Given the description of an element on the screen output the (x, y) to click on. 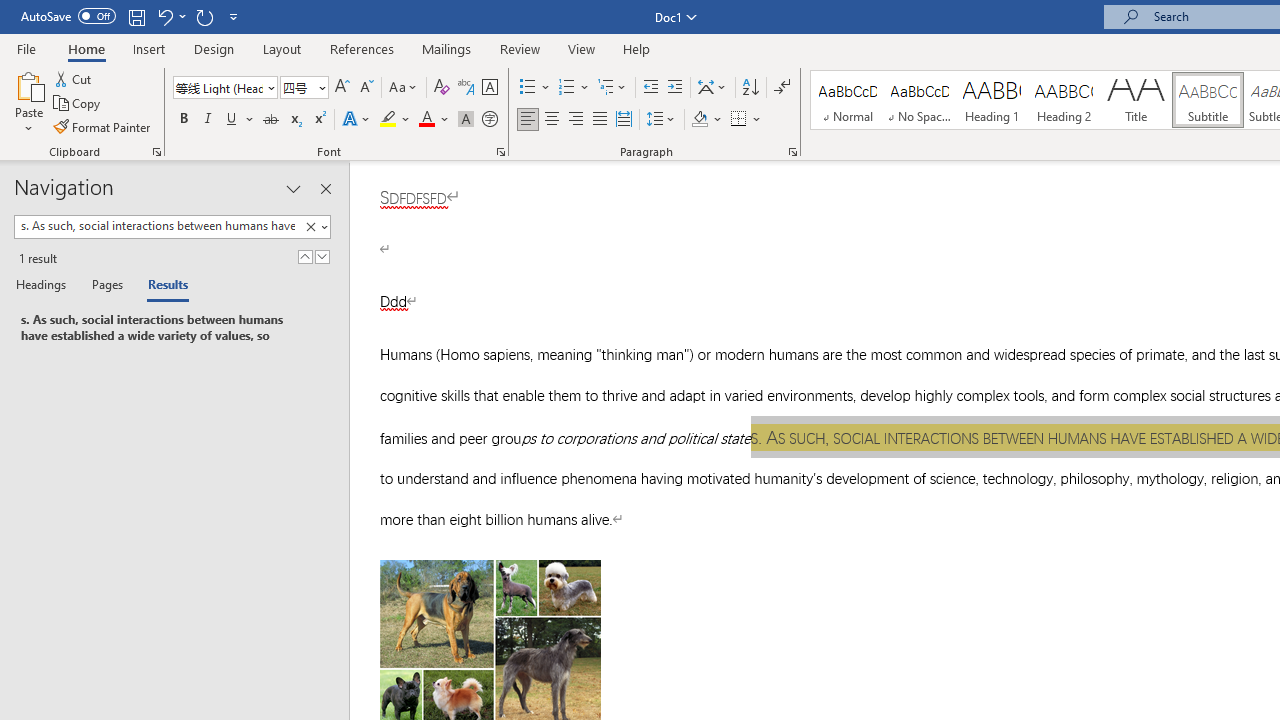
System (10, 11)
Review (520, 48)
Character Shading (465, 119)
Previous Result (304, 256)
Font Size (304, 87)
Font (224, 87)
Distributed (623, 119)
Phonetic Guide... (465, 87)
Mailings (447, 48)
Justify (599, 119)
Undo Style (170, 15)
Increase Indent (675, 87)
Grow Font (342, 87)
Enclose Characters... (489, 119)
Search document (157, 226)
